Given the description of an element on the screen output the (x, y) to click on. 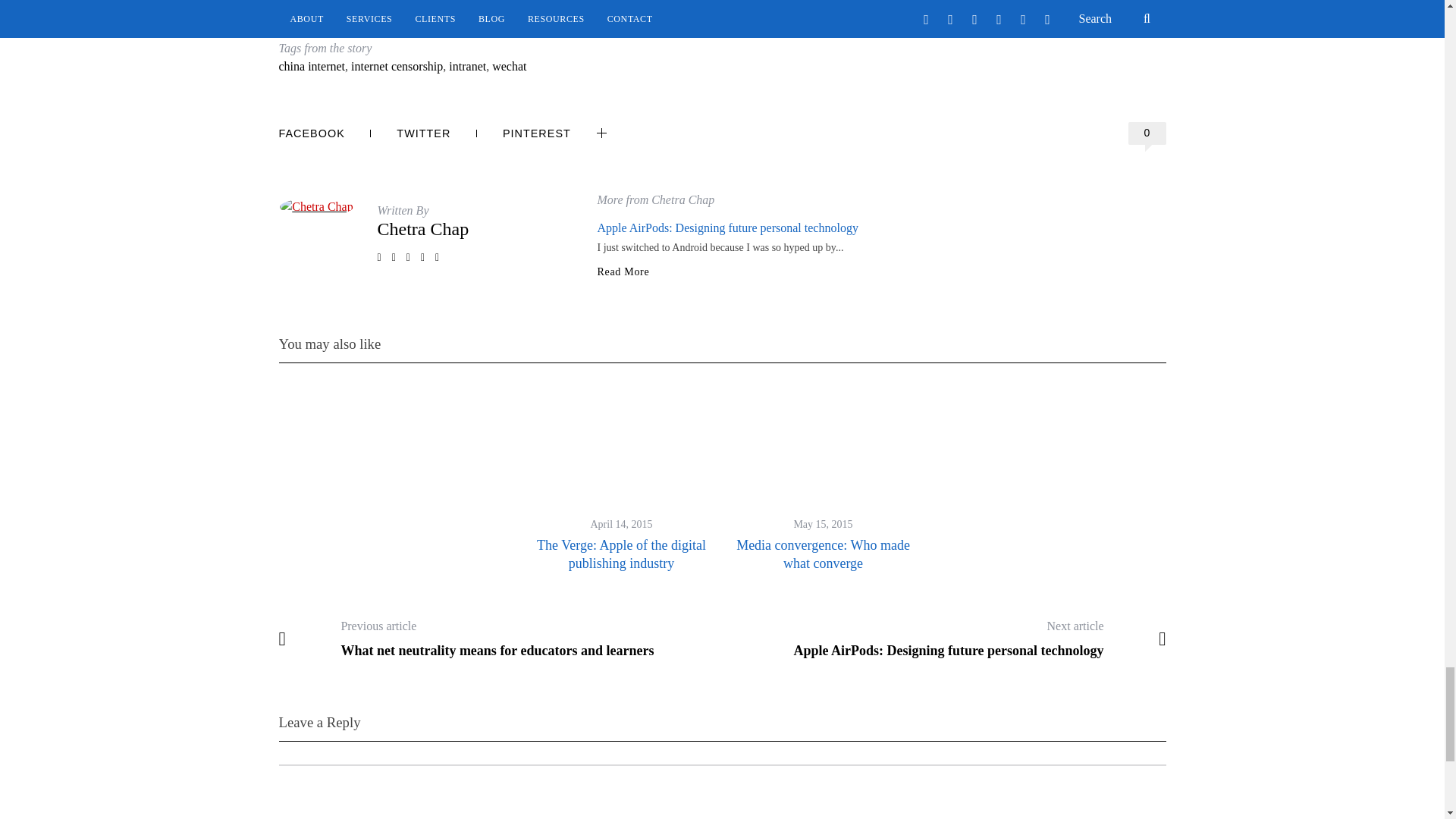
internet censorship (396, 65)
FACEBOOK (325, 133)
wechat (508, 65)
Chetra Chap (422, 229)
Apple AirPods: Designing future personal technology (727, 227)
PINTEREST (536, 133)
TWITTER (436, 133)
0 (1147, 133)
Read More (622, 271)
china internet (312, 65)
Comment Form (722, 791)
intranet (467, 65)
